Given the description of an element on the screen output the (x, y) to click on. 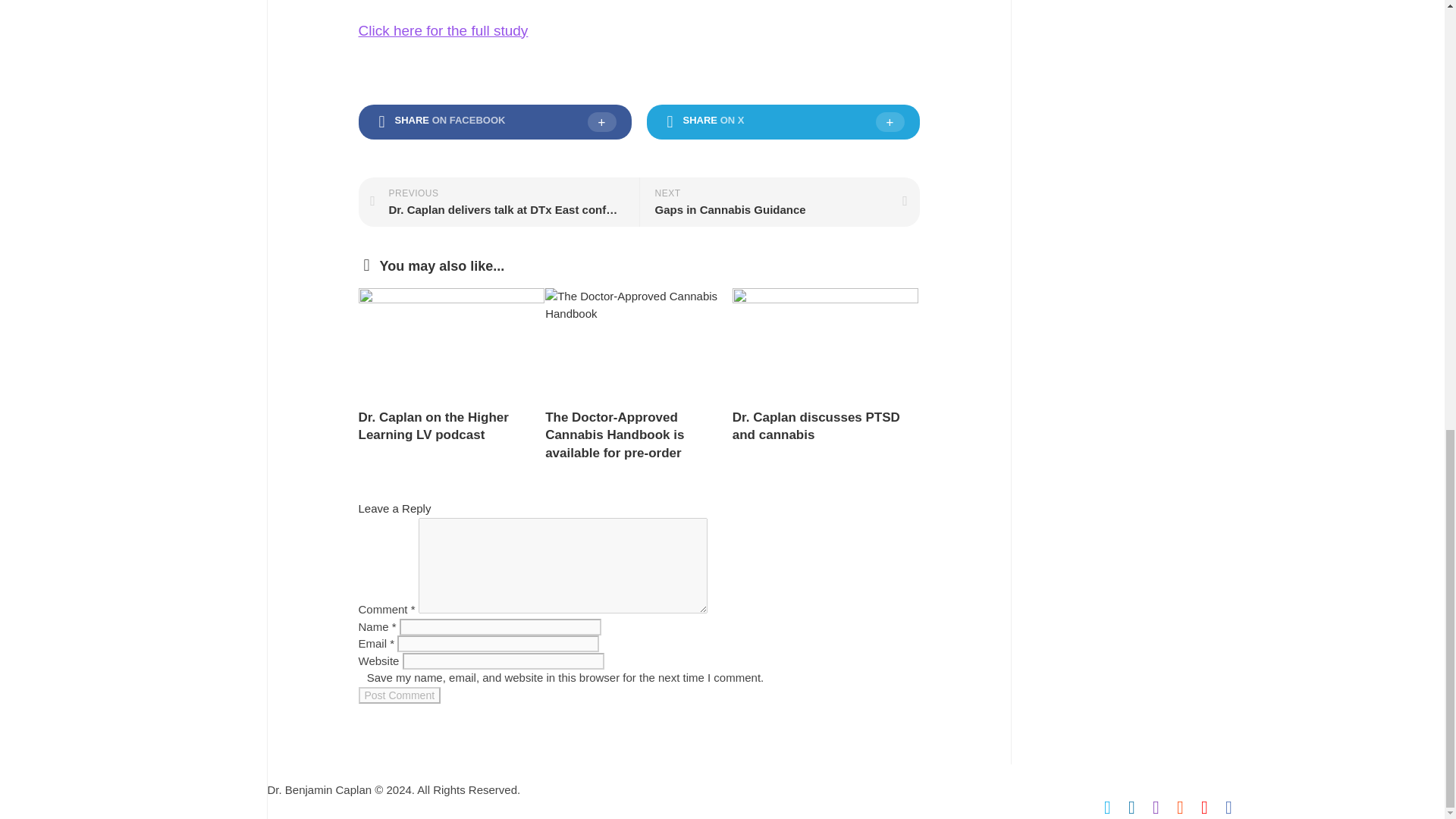
LinkedIn (1131, 807)
Twitter (1106, 807)
Post Comment (399, 695)
